Given the description of an element on the screen output the (x, y) to click on. 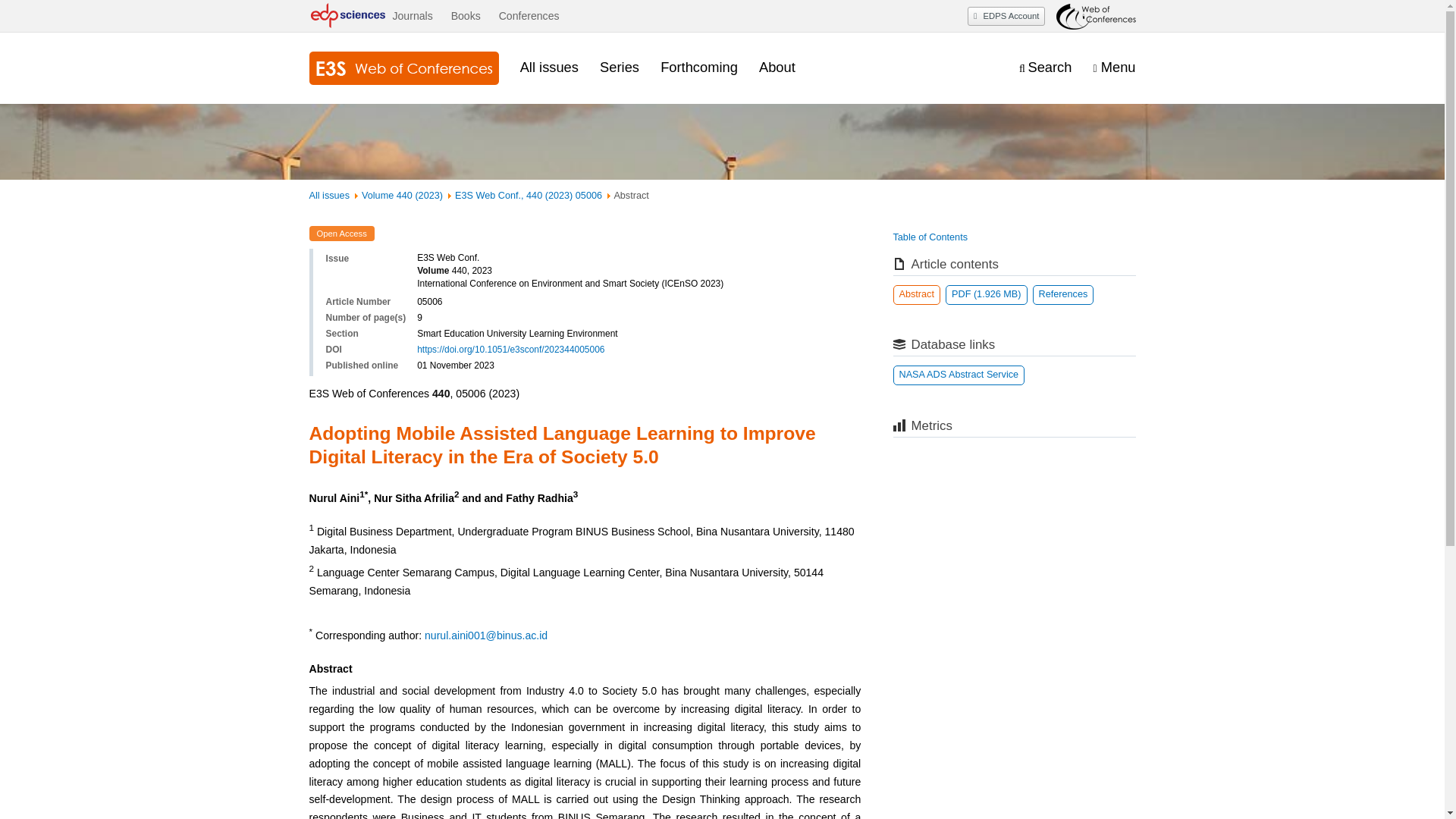
Menu (1114, 67)
Books (465, 16)
All issues (548, 67)
All issues (328, 195)
References (1063, 294)
Abstract (916, 294)
Journal homepage (403, 67)
Series (619, 67)
Conferences (529, 16)
